Given the description of an element on the screen output the (x, y) to click on. 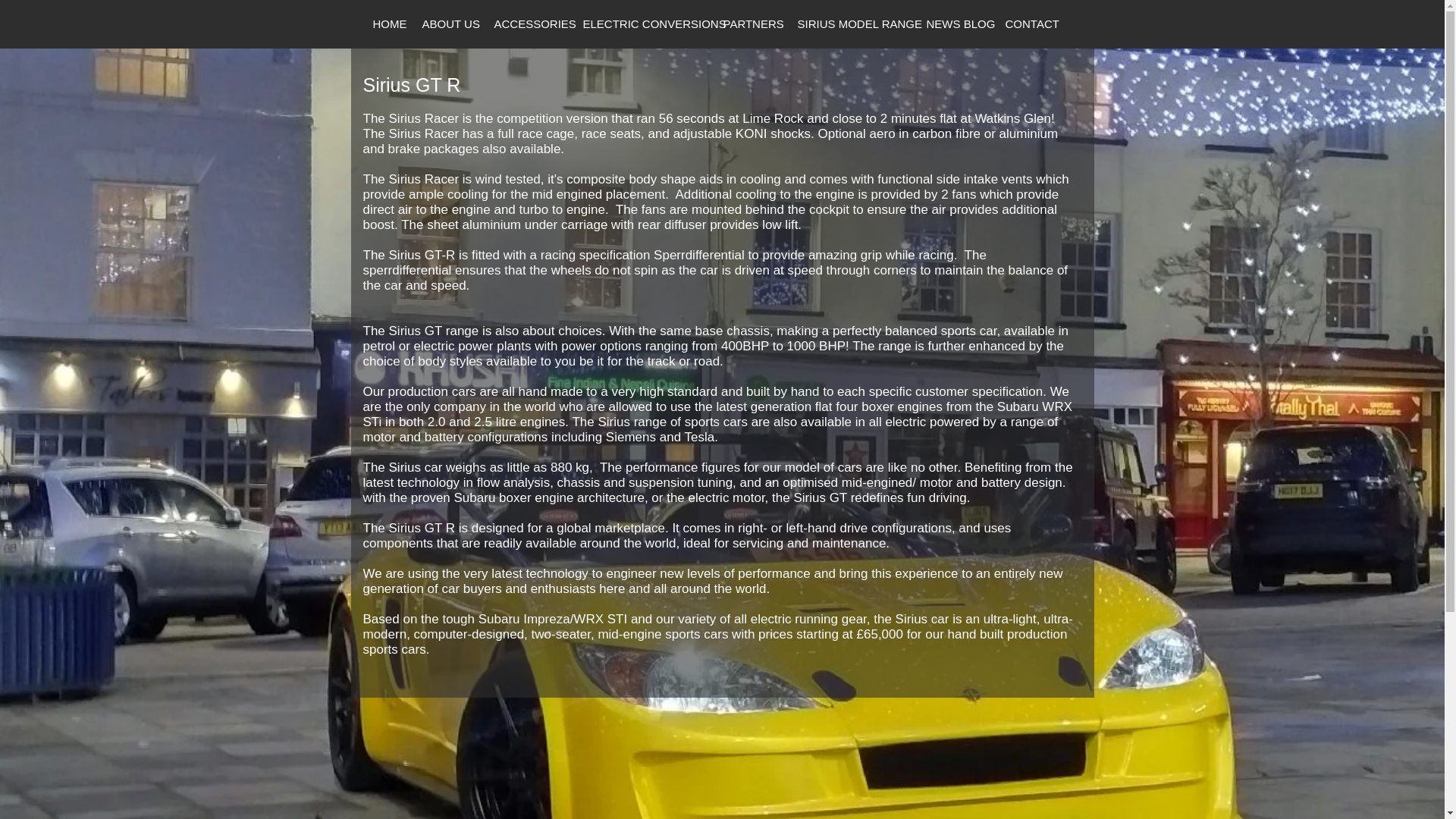
HOME (387, 24)
SIRIUS MODEL RANGE (851, 24)
PARTNERS (750, 24)
CONTACT (1026, 24)
ACCESSORIES (527, 24)
ABOUT US (448, 24)
ELECTRIC CONVERSIONS (643, 24)
NEWS BLOG (954, 24)
